Given the description of an element on the screen output the (x, y) to click on. 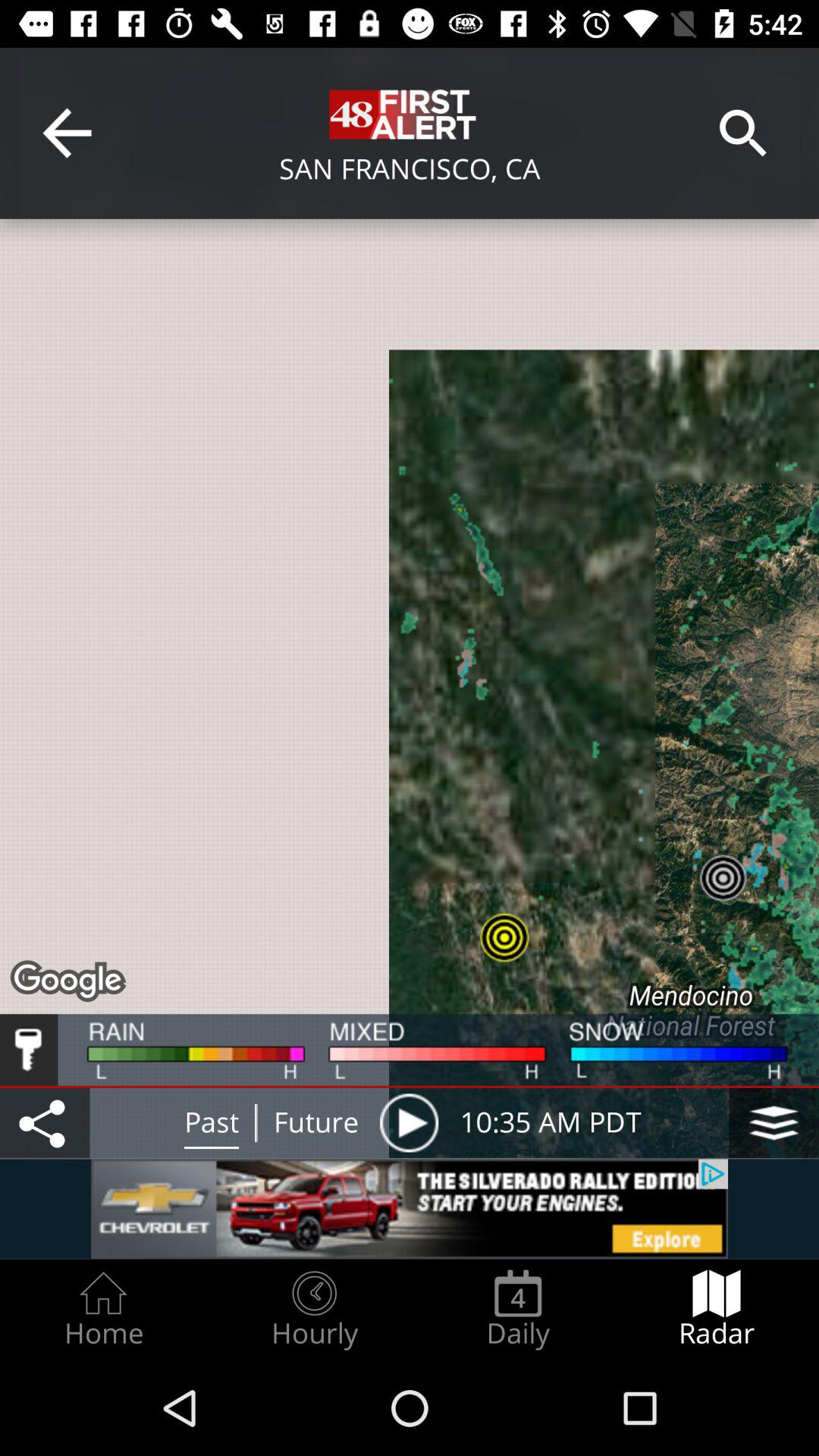
view the menu (774, 1122)
